Given the description of an element on the screen output the (x, y) to click on. 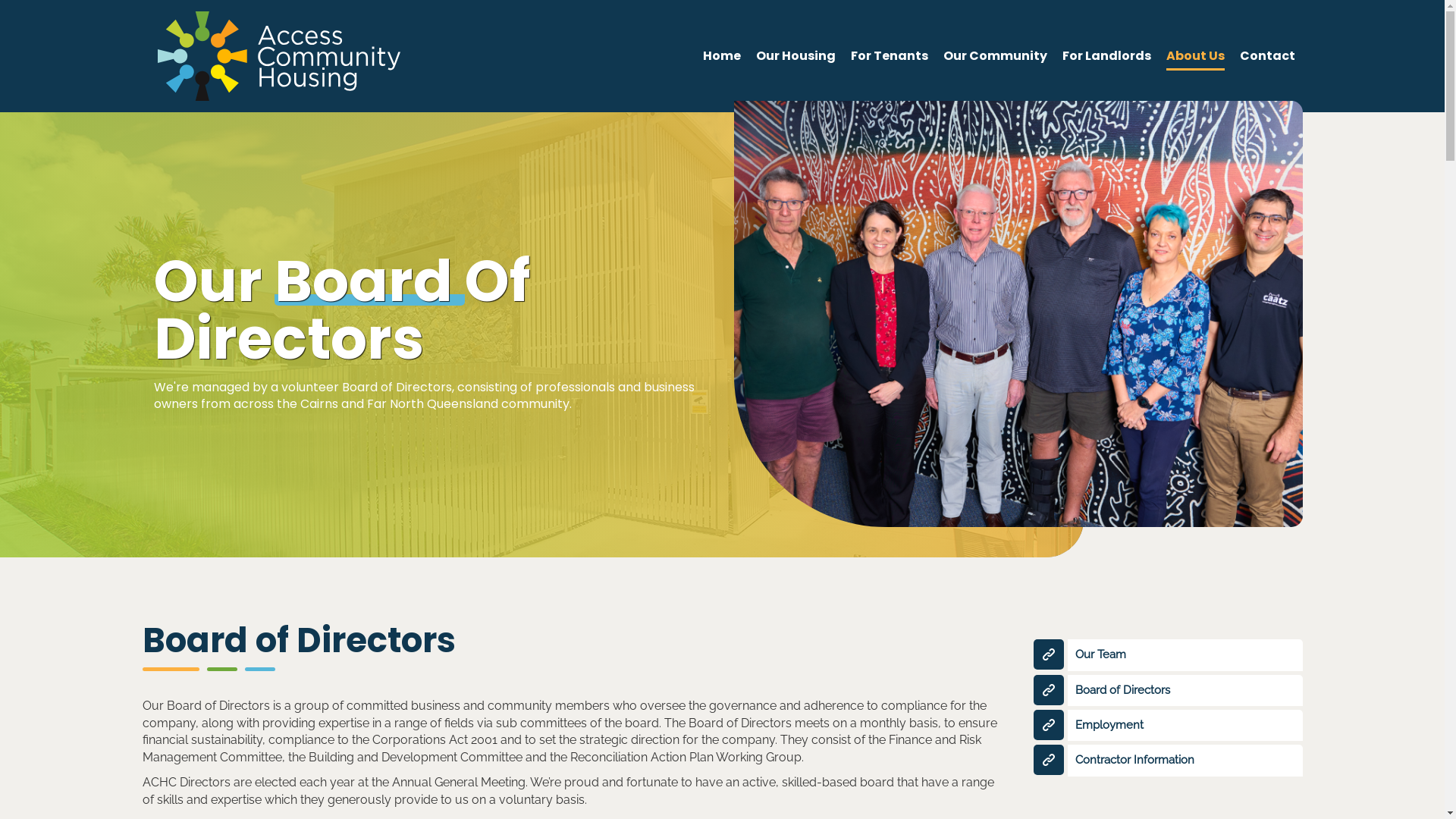
For Landlords Element type: text (1105, 55)
About Us Element type: text (1195, 55)
Our Team Element type: text (1184, 654)
Contact Element type: text (1266, 55)
Home Element type: text (721, 55)
Our Community Element type: text (995, 55)
Employment Element type: text (1184, 724)
For Tenants Element type: text (889, 55)
Contractor Information Element type: text (1184, 759)
Board of Directors Element type: text (1184, 690)
Our Housing Element type: text (794, 55)
